Given the description of an element on the screen output the (x, y) to click on. 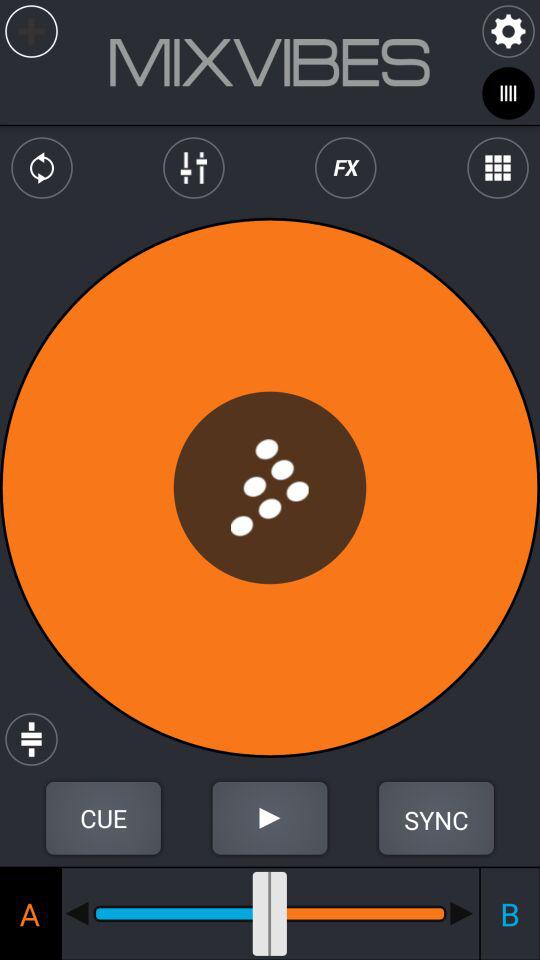
adjust audio settings (193, 167)
